Given the description of an element on the screen output the (x, y) to click on. 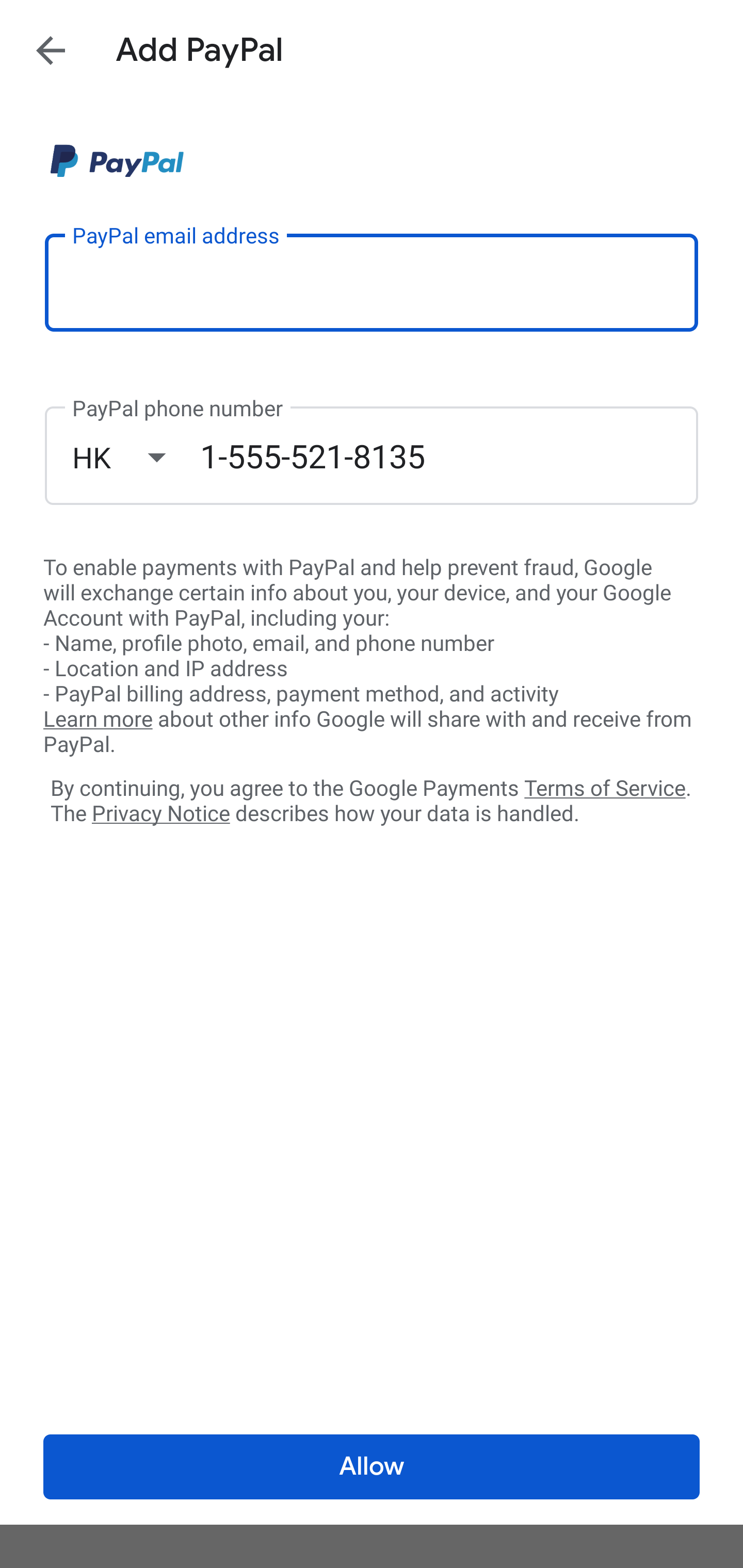
Navigate up (50, 50)
PayPal email address (371, 282)
HK (135, 456)
Learn more (97, 719)
Terms of Service (604, 787)
Privacy Notice (160, 814)
Allow (371, 1466)
